Given the description of an element on the screen output the (x, y) to click on. 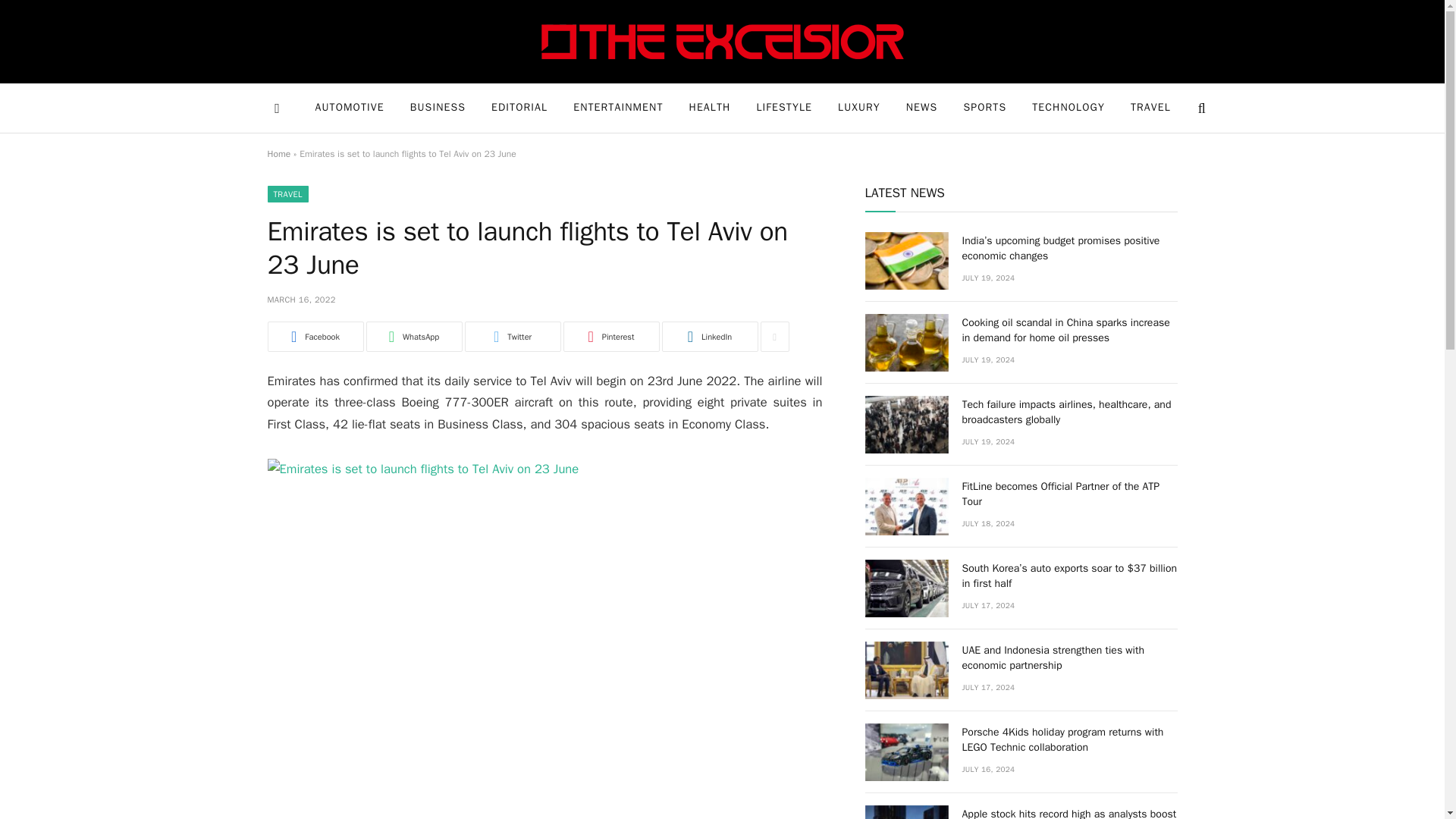
Share on Pinterest (610, 336)
NEWS (921, 107)
The Excelsior (722, 41)
ENTERTAINMENT (617, 107)
Share on WhatsApp (413, 336)
TRAVEL (286, 193)
Share on LinkedIn (709, 336)
Home (277, 153)
TRAVEL (1150, 107)
TECHNOLOGY (1068, 107)
WhatsApp (413, 336)
Pinterest (610, 336)
HEALTH (710, 107)
LIFESTYLE (783, 107)
